Given the description of an element on the screen output the (x, y) to click on. 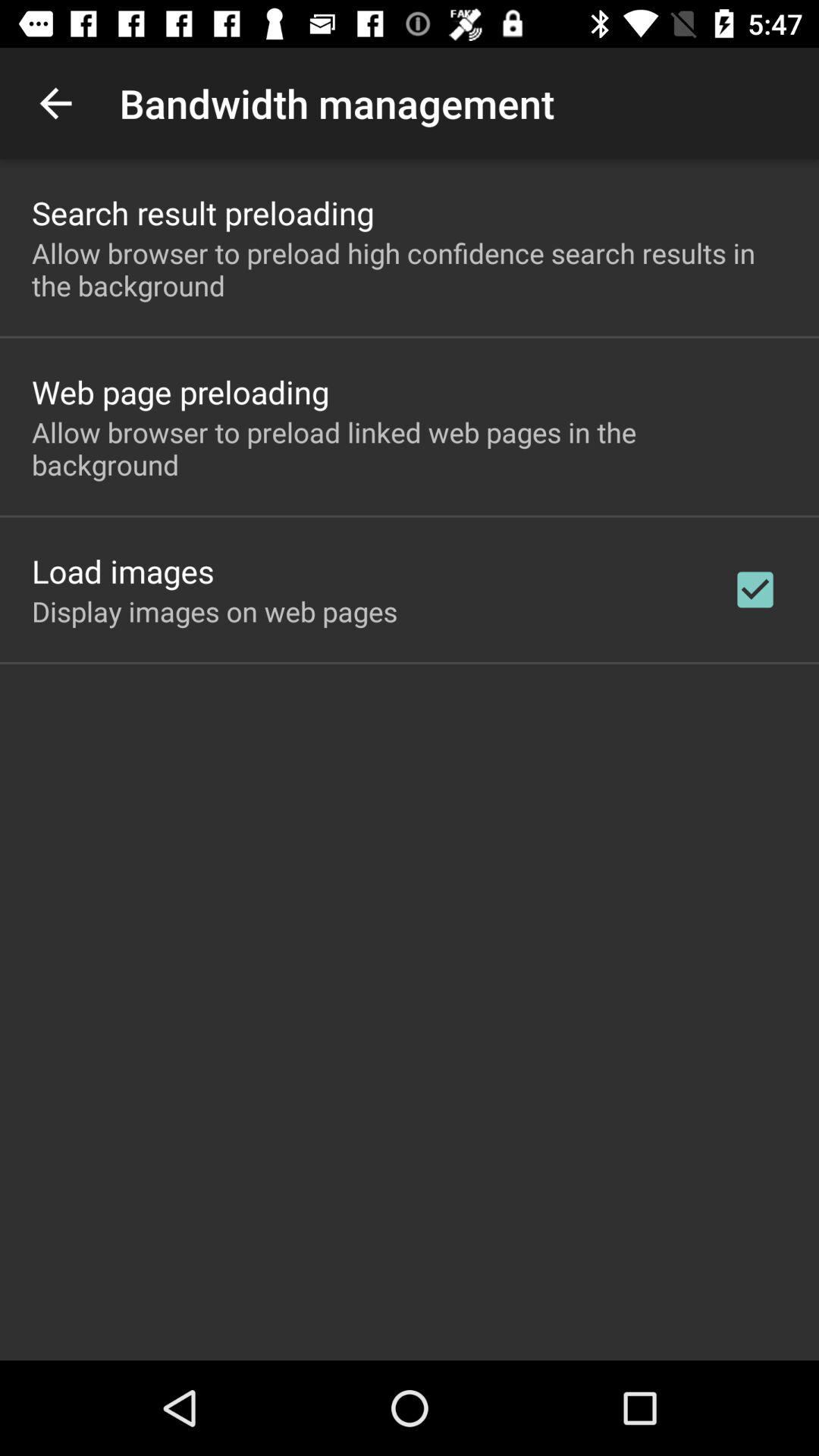
turn on item below load images (214, 611)
